Given the description of an element on the screen output the (x, y) to click on. 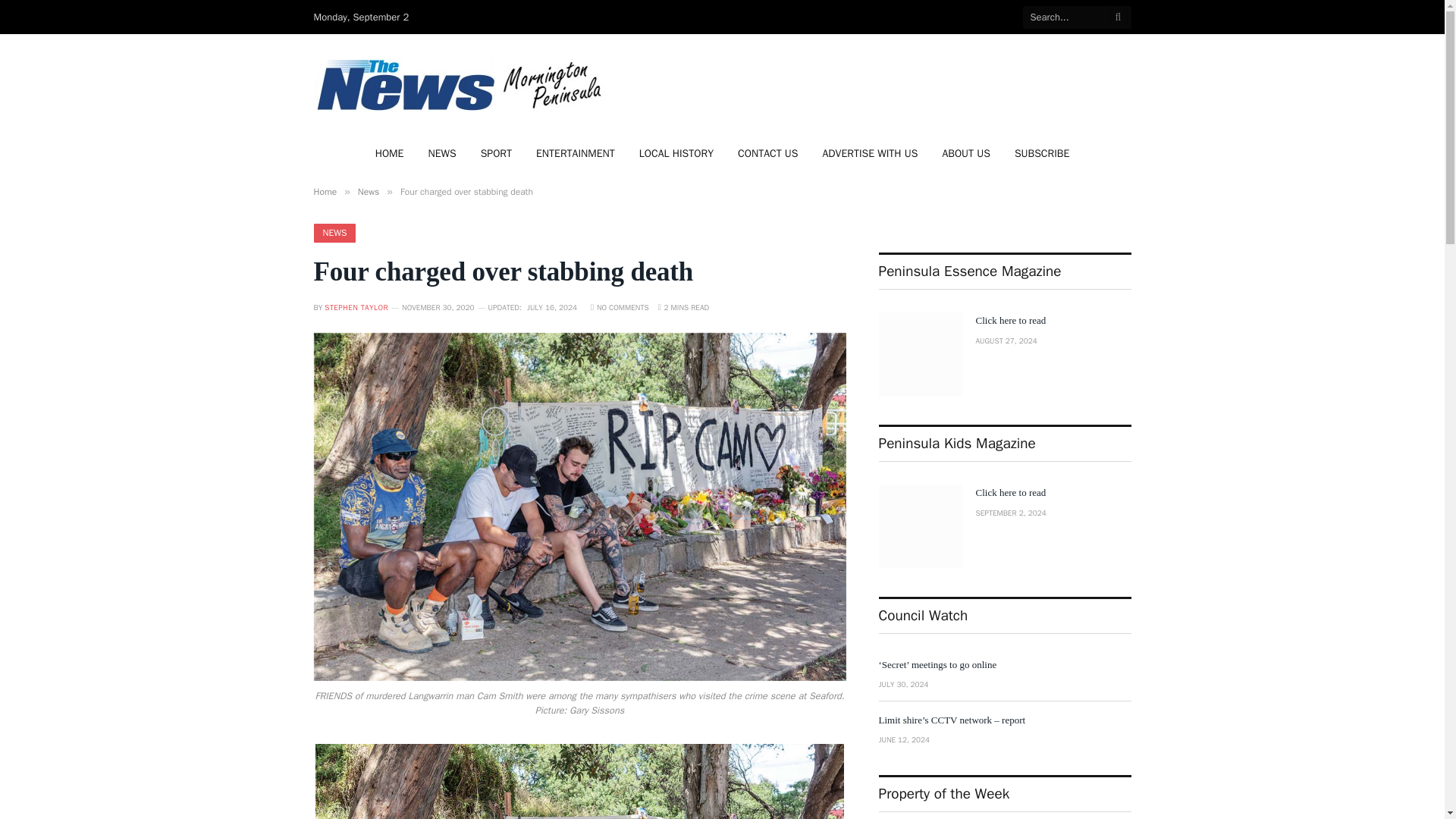
Posts by Stephen Taylor (356, 307)
News (369, 191)
ABOUT US (966, 153)
ENTERTAINMENT (575, 153)
Home (325, 191)
NEWS (335, 232)
NEWS (440, 153)
LOCAL HISTORY (676, 153)
CONTACT US (767, 153)
